Given the description of an element on the screen output the (x, y) to click on. 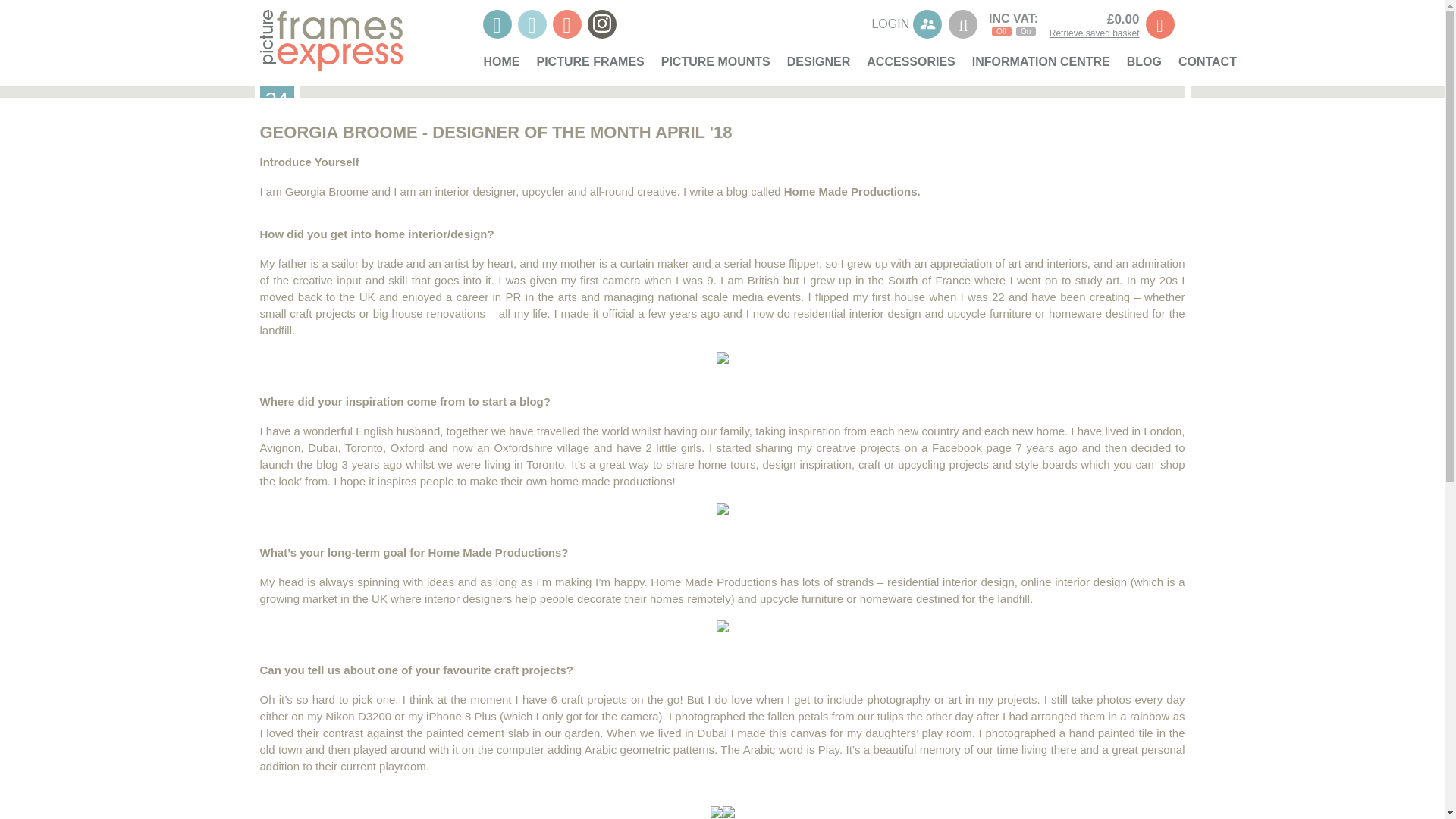
CONTACT (1206, 66)
PICTURE MOUNTS (715, 66)
Retrieve saved basket (1094, 32)
On (1025, 31)
Login (906, 23)
PICTURE FRAMES (591, 66)
ACCESSORIES (910, 66)
LOGIN (906, 23)
Off (1001, 31)
DESIGNER (818, 66)
